Given the description of an element on the screen output the (x, y) to click on. 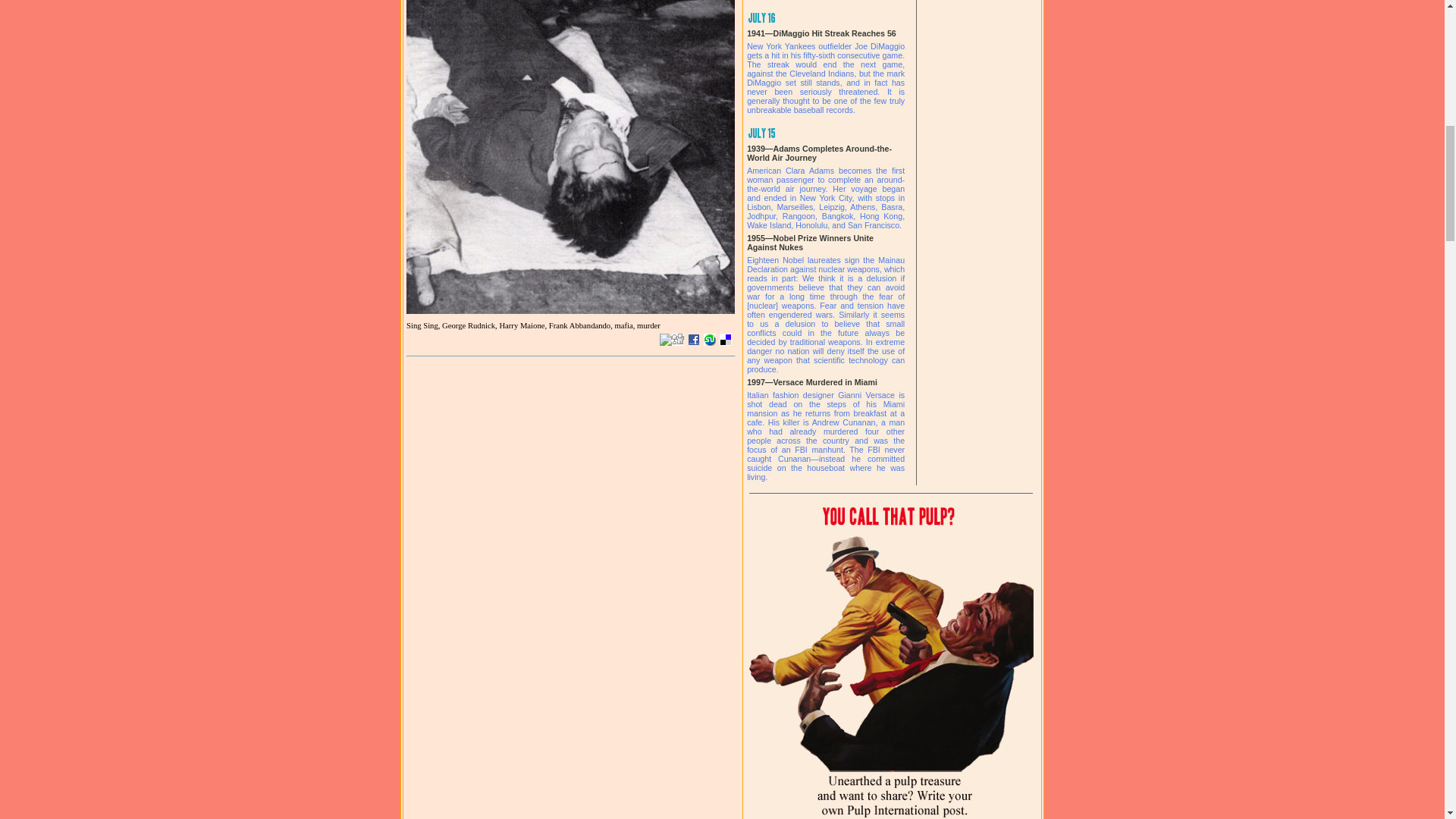
Share this on Facebook (693, 339)
StumbleUpon:Photo of mafia murder victim George Rudnick (709, 339)
mafia (625, 325)
George Rudnick (470, 325)
Sing Sing (424, 325)
Bookmark this on Delicious (725, 339)
digg:Photo of mafia murder victim George Rudnick (677, 339)
murder (649, 325)
Harry Maione (523, 325)
Frank Abbandando (581, 325)
